Given the description of an element on the screen output the (x, y) to click on. 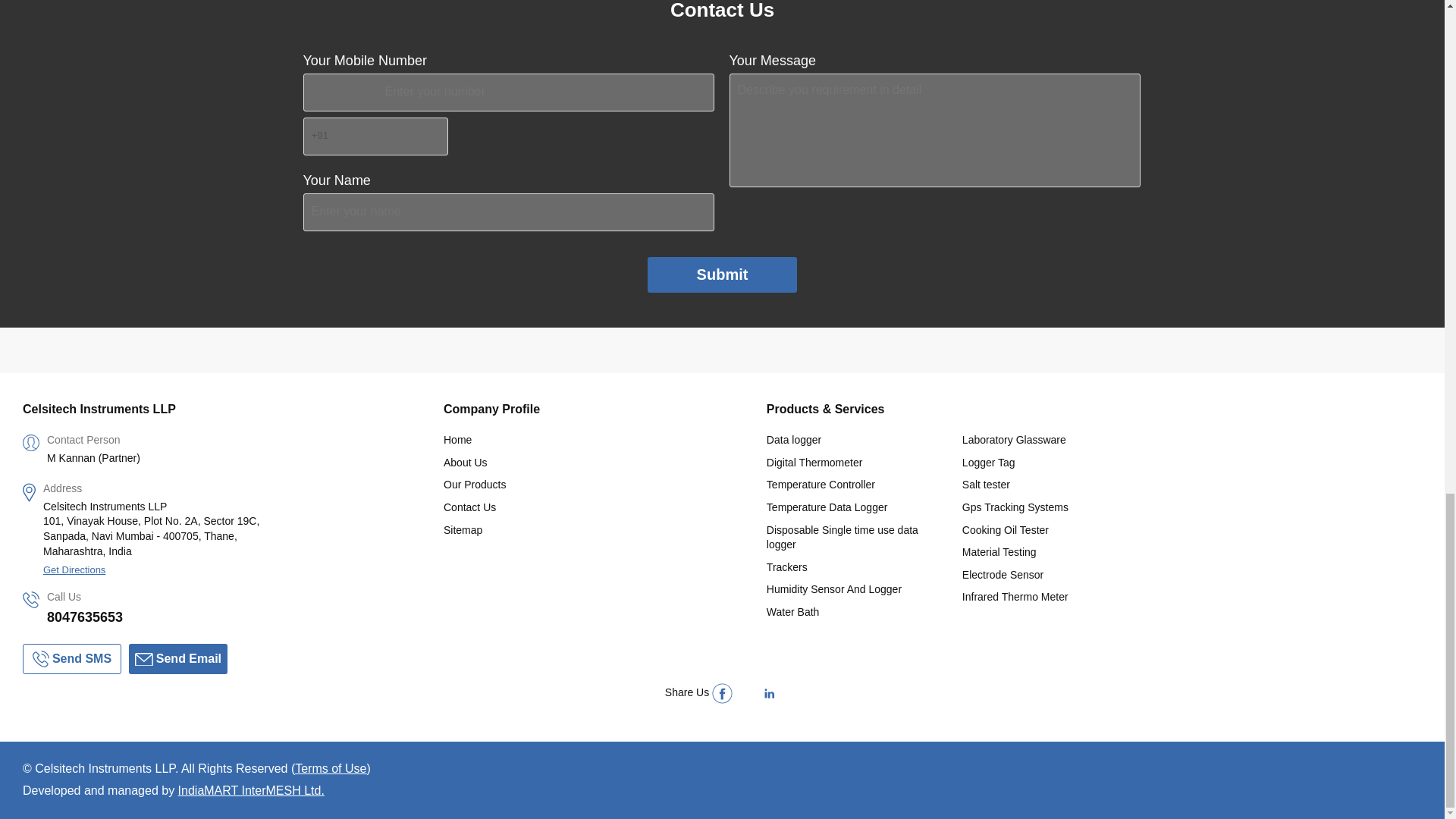
Submit (722, 274)
